Given the description of an element on the screen output the (x, y) to click on. 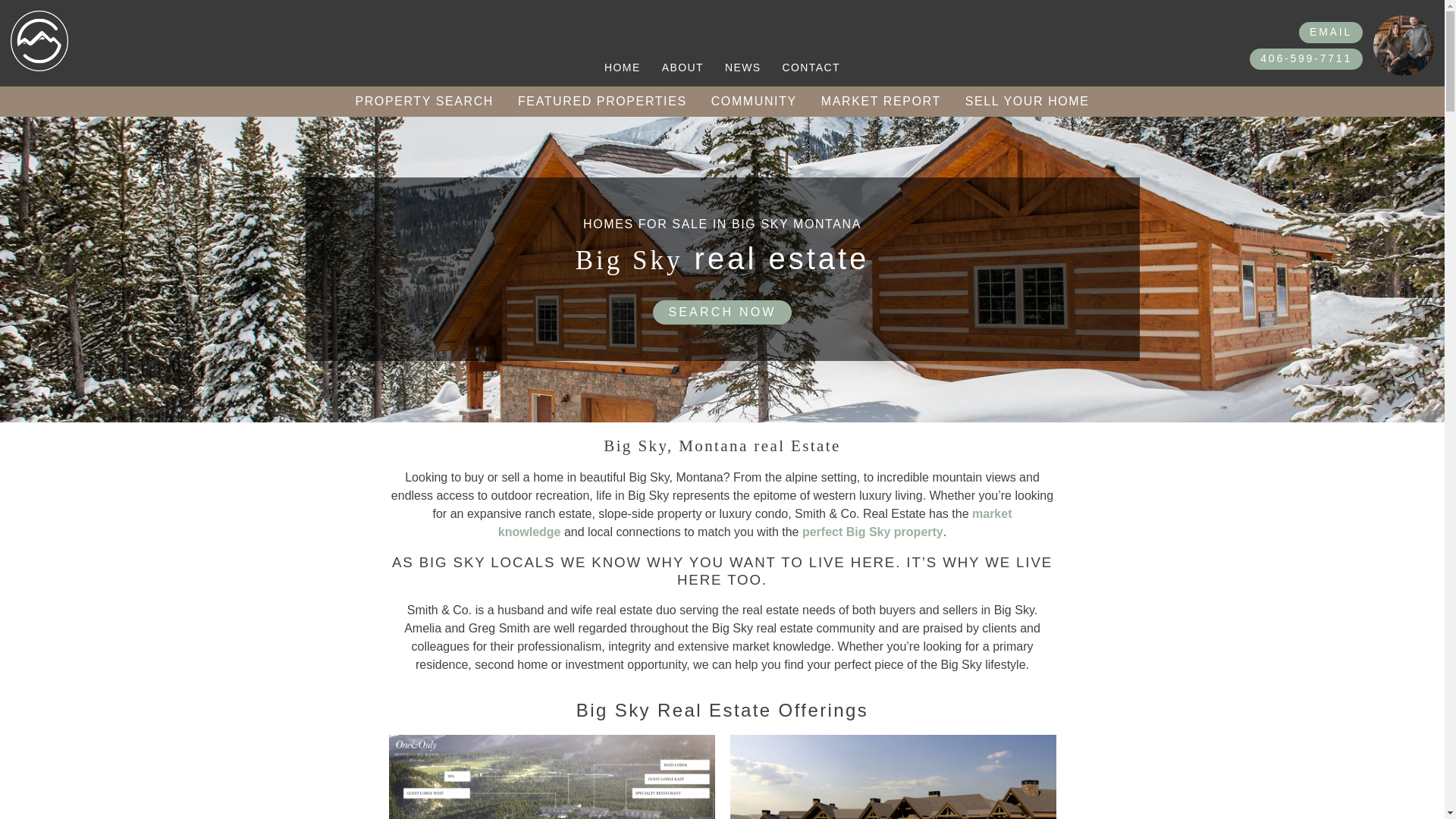
PROPERTY SEARCH (423, 101)
perfect Big Sky property (872, 531)
market knowledge (754, 522)
HOME (622, 67)
COMMUNITY (753, 101)
406-599-7711 (1305, 58)
CONTACT (810, 67)
MARKET REPORT (881, 101)
EMAIL (1330, 31)
SEARCH NOW (721, 312)
FEATURED PROPERTIES (601, 101)
SELL YOUR HOME (1027, 101)
ABOUT (682, 67)
NEWS (742, 67)
